Given the description of an element on the screen output the (x, y) to click on. 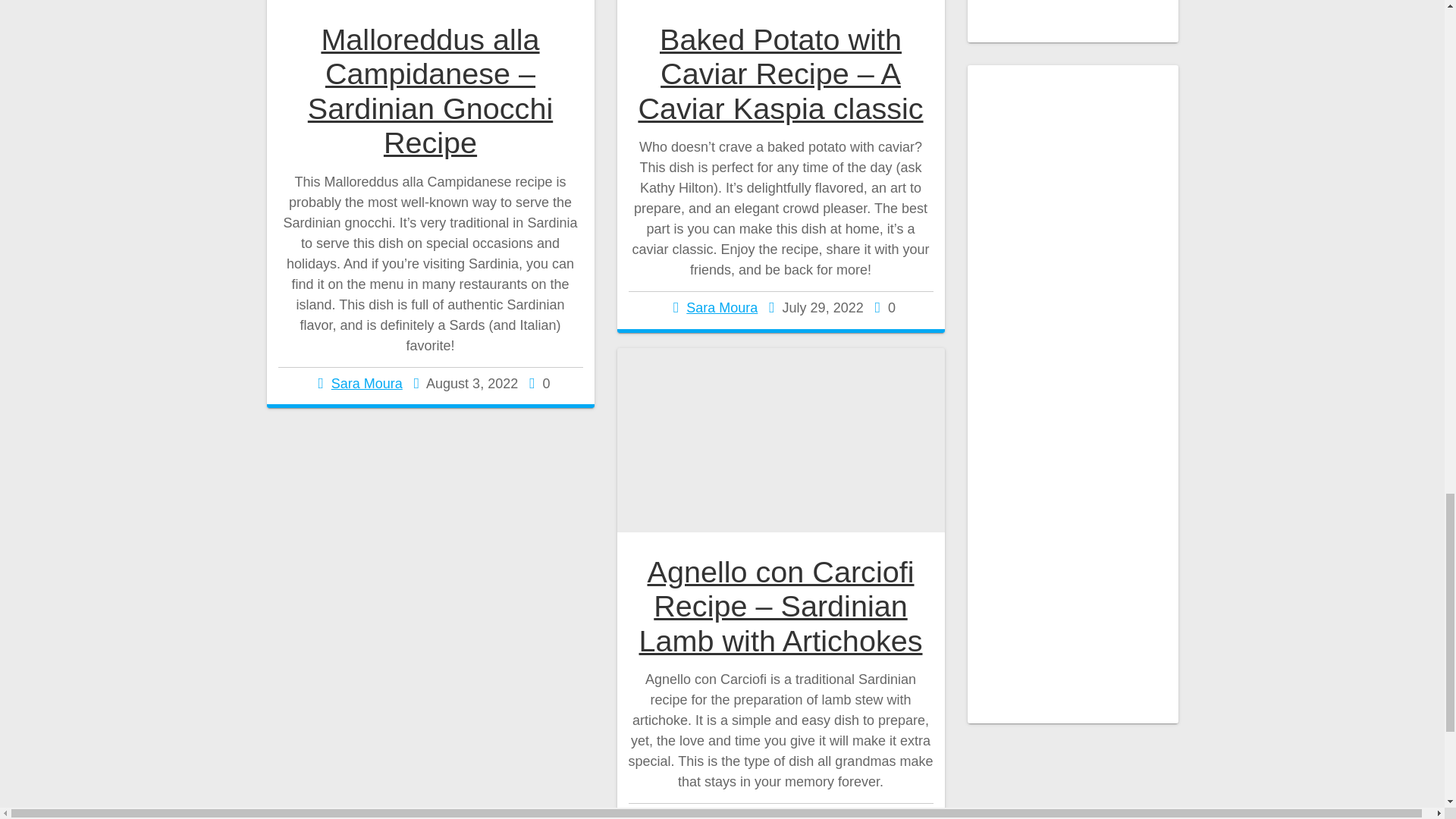
Posts by Sara Moura (367, 383)
Posts by Sara Moura (725, 815)
Sara Moura (367, 383)
Posts by Sara Moura (721, 307)
Sara Moura (721, 307)
Sara Moura (725, 815)
